Given the description of an element on the screen output the (x, y) to click on. 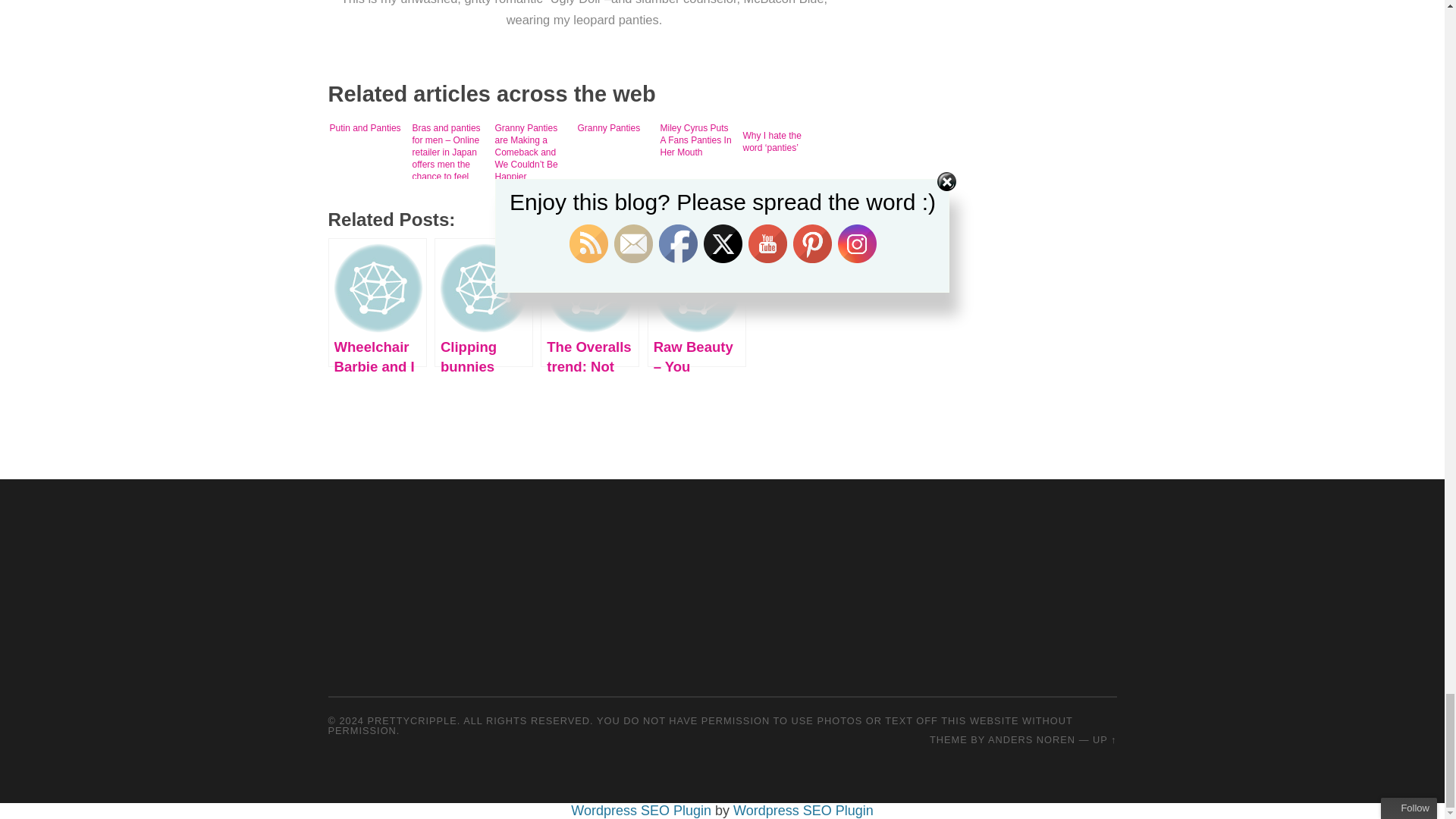
To the top (1104, 739)
Miley Cyrus Puts A Fans Panties In Her Mouth (697, 148)
Putin and Panties (366, 148)
Granny Panties (615, 148)
